Given the description of an element on the screen output the (x, y) to click on. 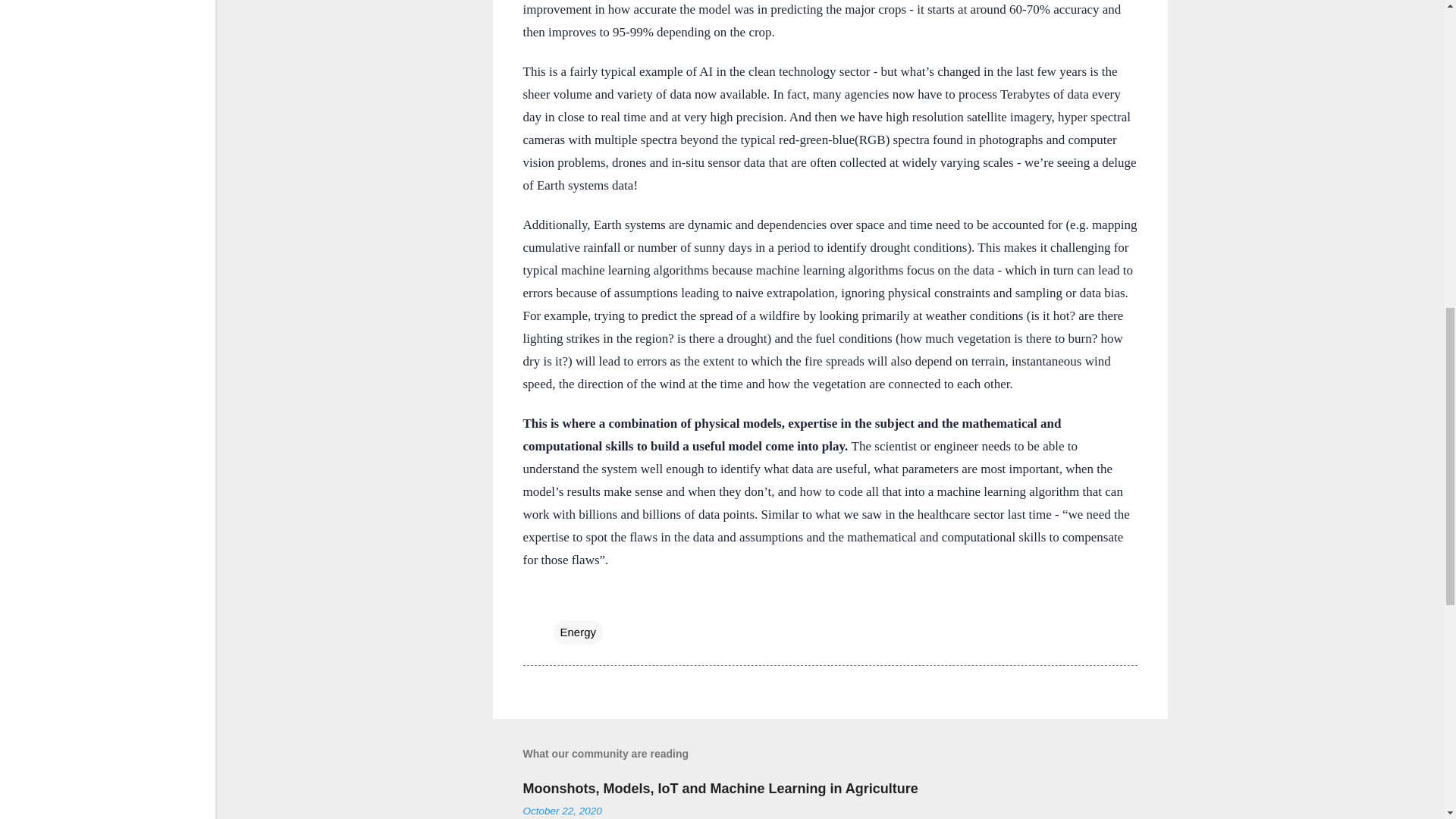
Moonshots, Models, IoT and Machine Learning in Agriculture (720, 788)
permanent link (562, 810)
October 22, 2020 (562, 810)
Energy (578, 631)
